Given the description of an element on the screen output the (x, y) to click on. 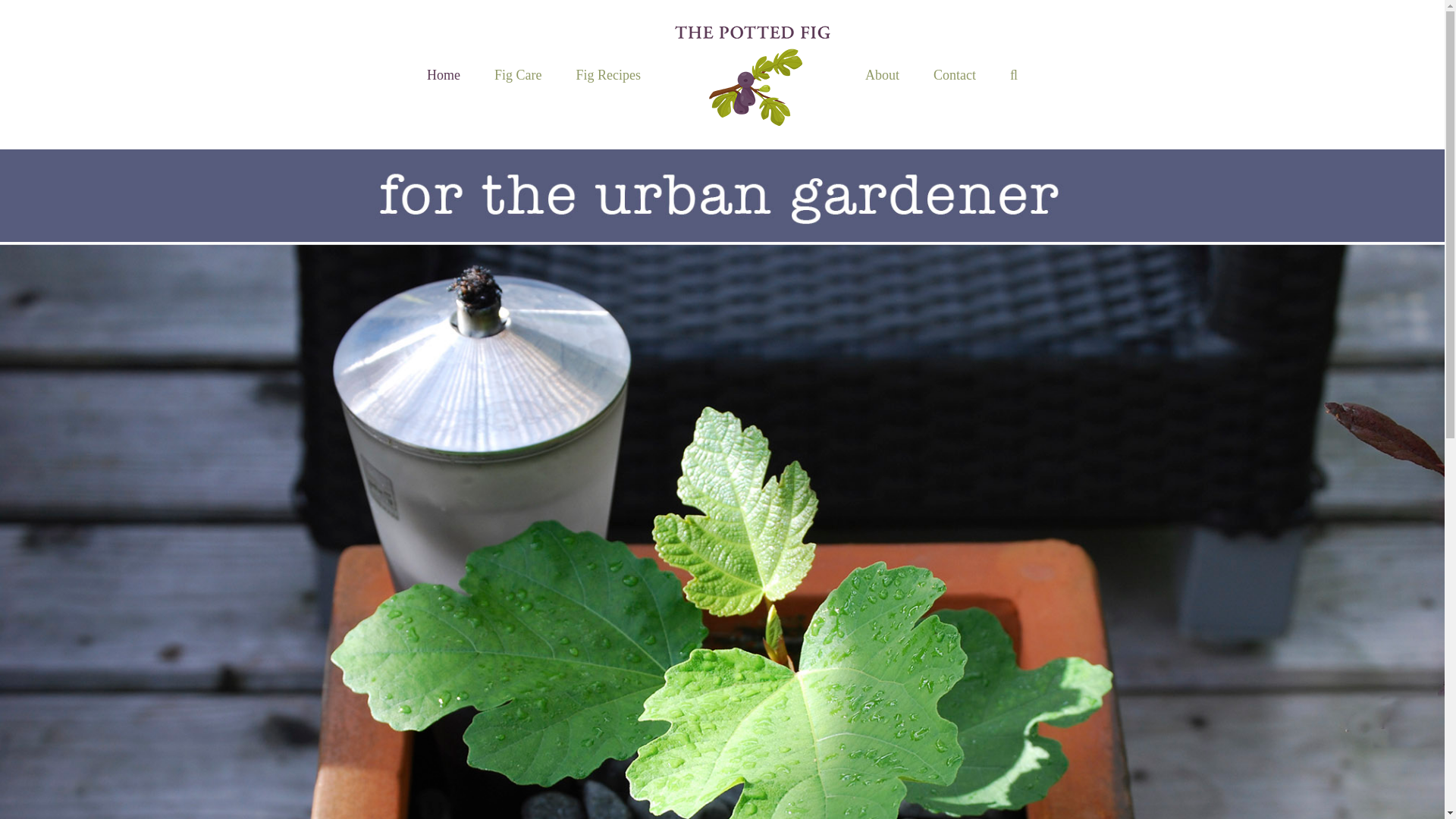
Fig Recipes (607, 74)
